Given the description of an element on the screen output the (x, y) to click on. 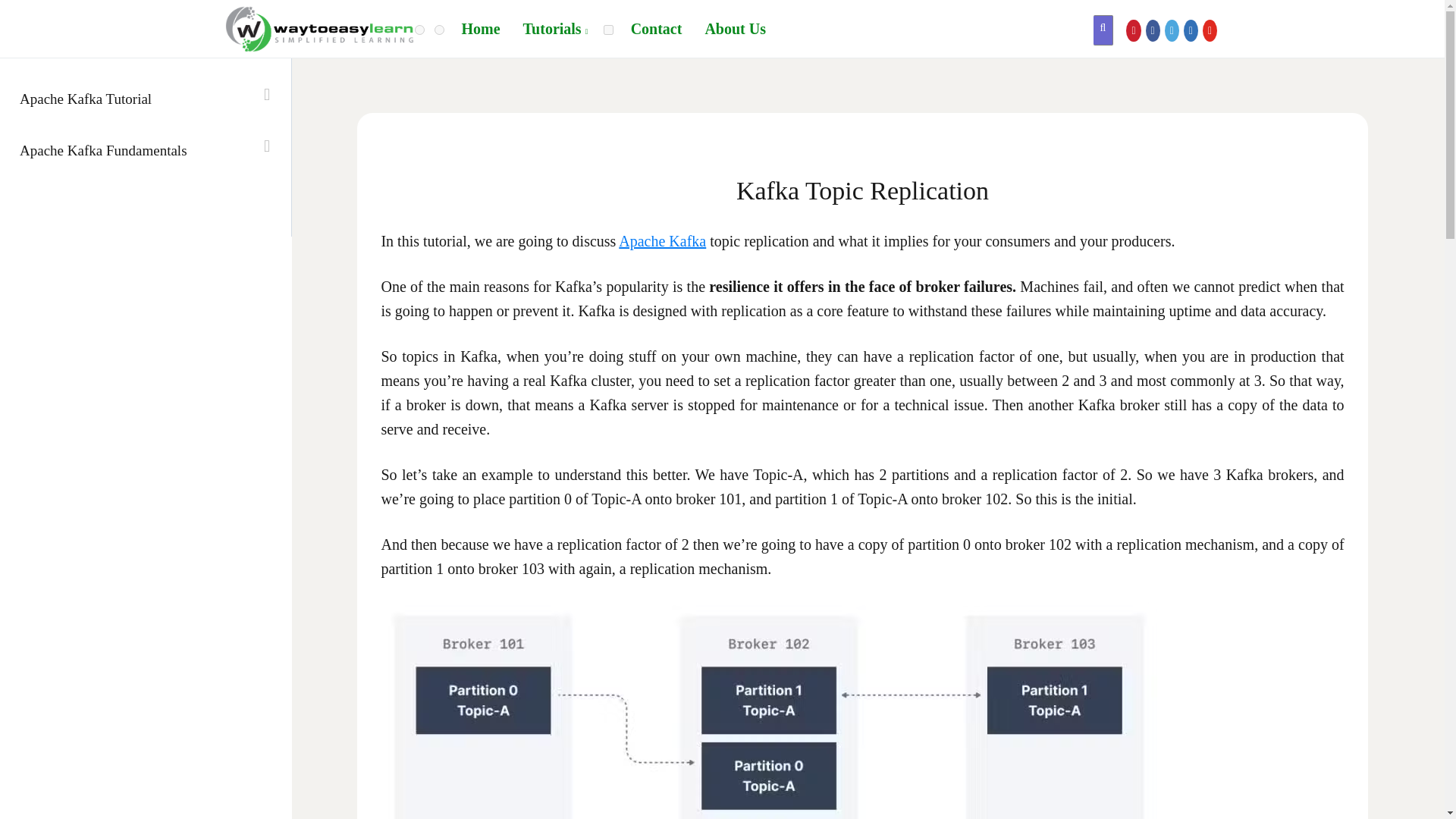
on (608, 30)
About Us (735, 28)
Contact (657, 28)
Home (480, 28)
on (419, 30)
Search (37, 17)
on (438, 30)
Tutorials (555, 28)
